Given the description of an element on the screen output the (x, y) to click on. 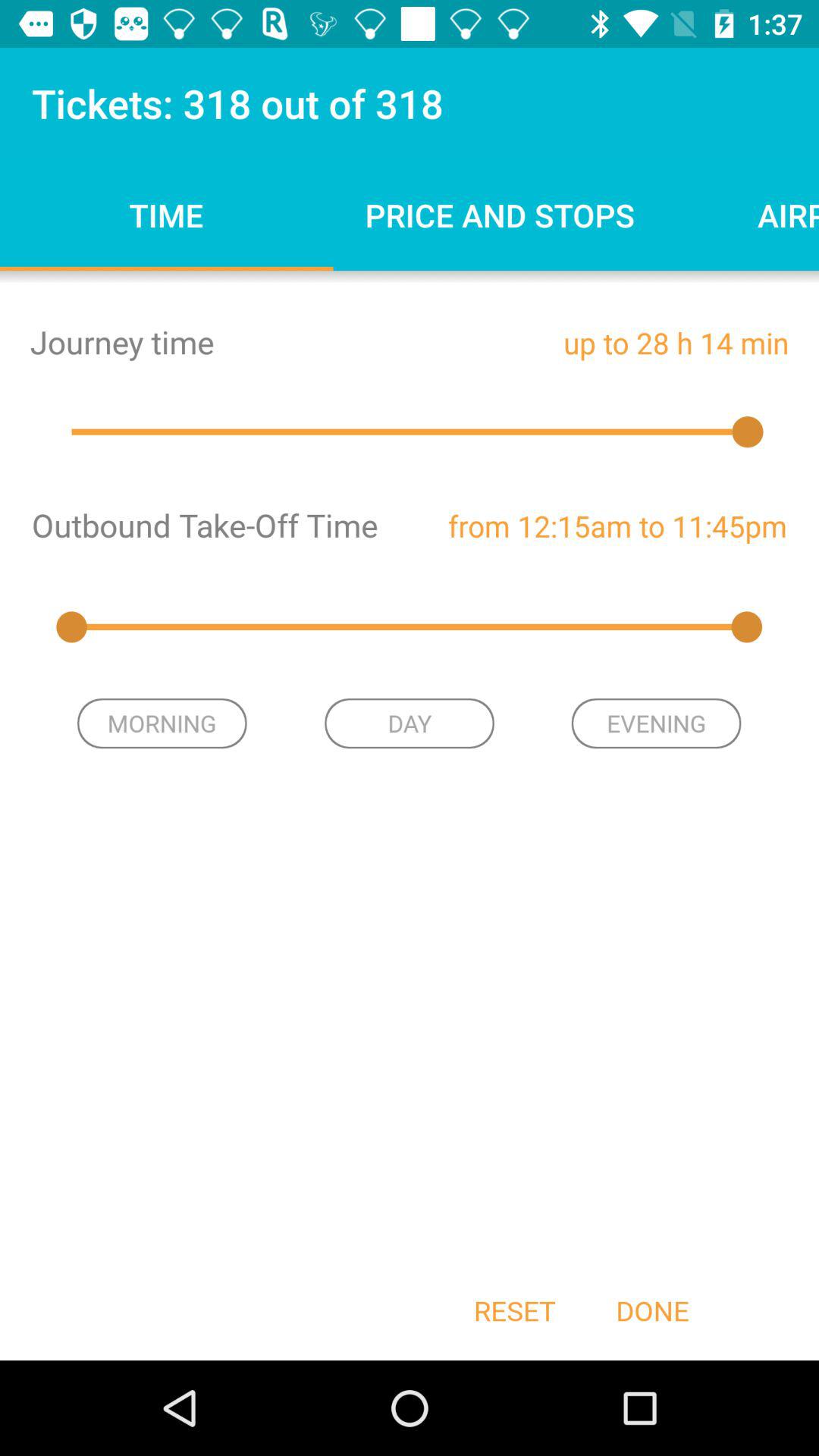
launch the item next to the day (161, 723)
